Given the description of an element on the screen output the (x, y) to click on. 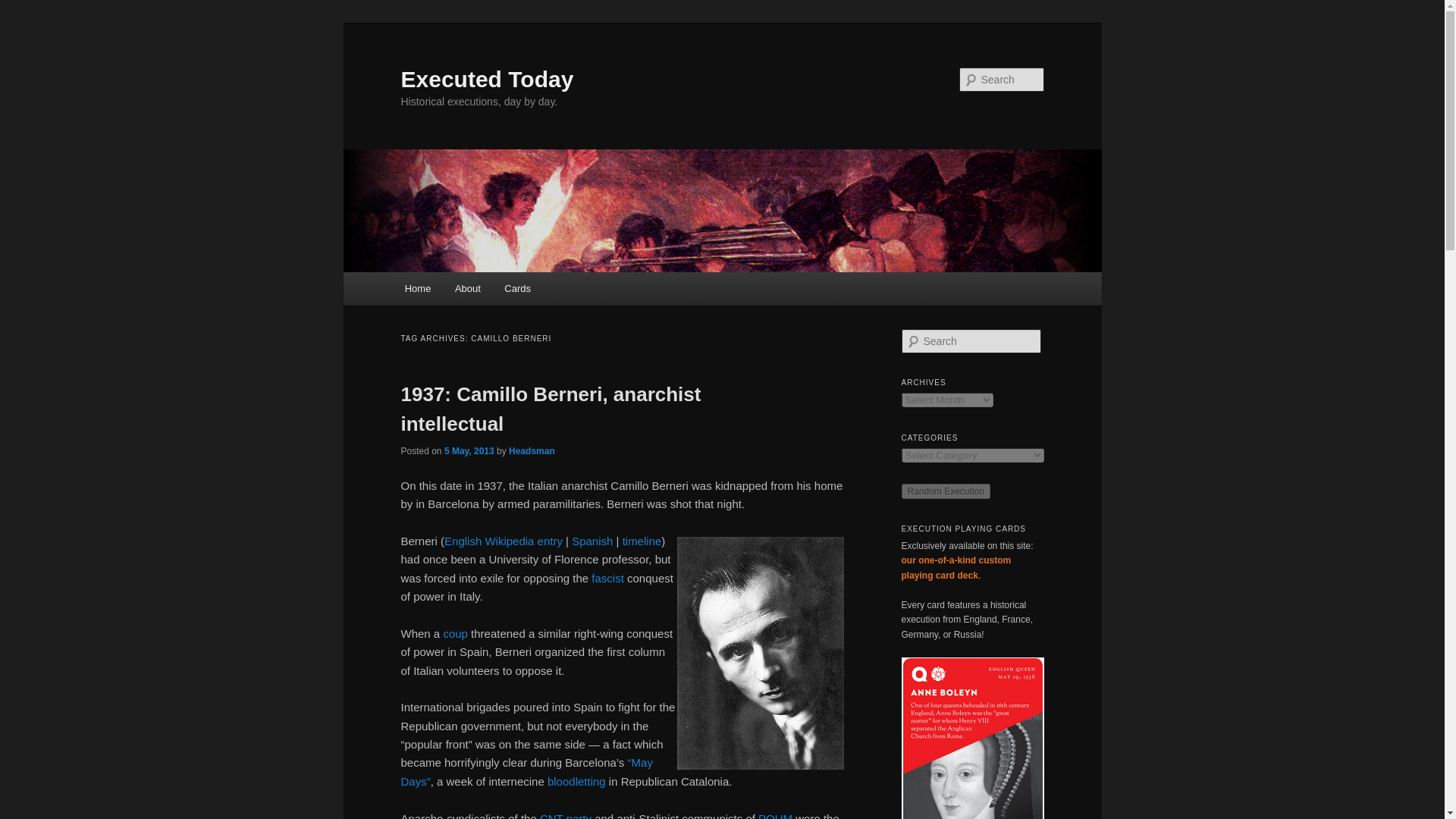
fascist (607, 577)
Cards (518, 287)
Spanish (592, 540)
About (467, 287)
1937: Camillo Berneri, anarchist intellectual (550, 408)
POUM (775, 815)
Home (417, 287)
CNT party (565, 815)
Search (24, 8)
coup (454, 633)
